Given the description of an element on the screen output the (x, y) to click on. 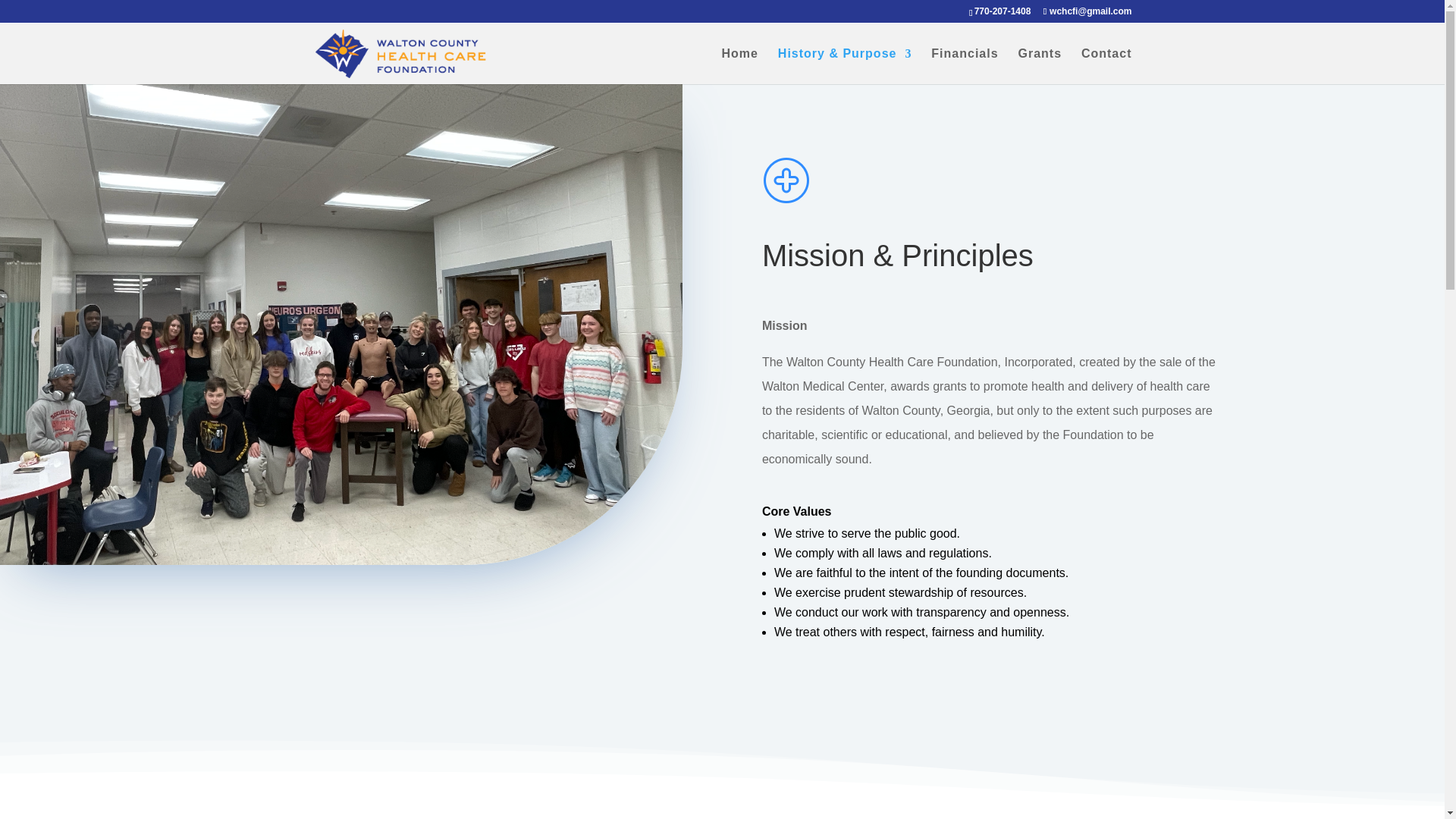
Financials (964, 66)
770-207-1408 (1002, 10)
Grants (1039, 66)
Call Walton County Health Care Foundation (1002, 10)
Home (740, 66)
Contact (1106, 66)
